Given the description of an element on the screen output the (x, y) to click on. 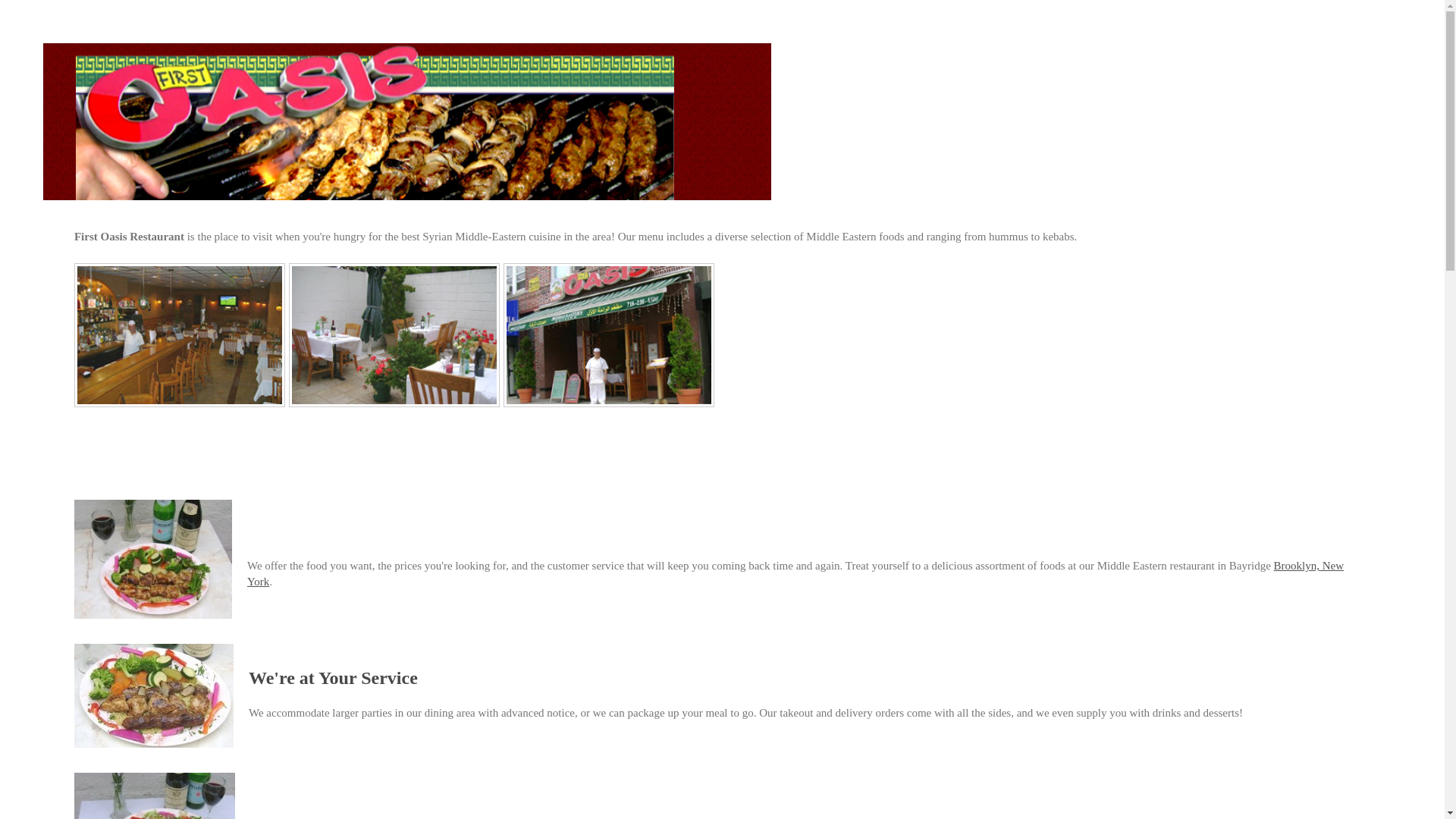
Brooklyn, New York (795, 573)
